Given the description of an element on the screen output the (x, y) to click on. 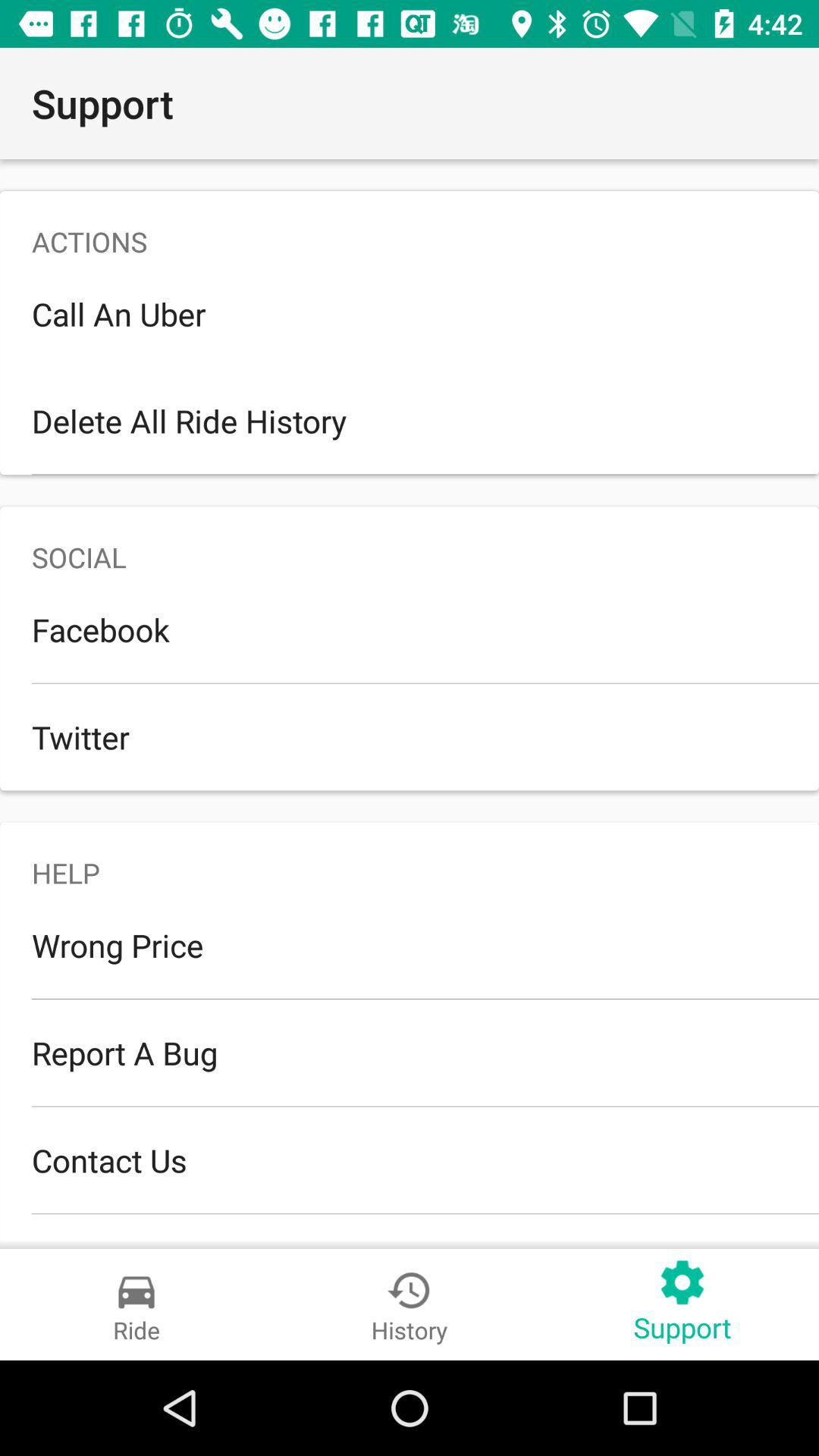
launch item below the actions item (409, 313)
